Given the description of an element on the screen output the (x, y) to click on. 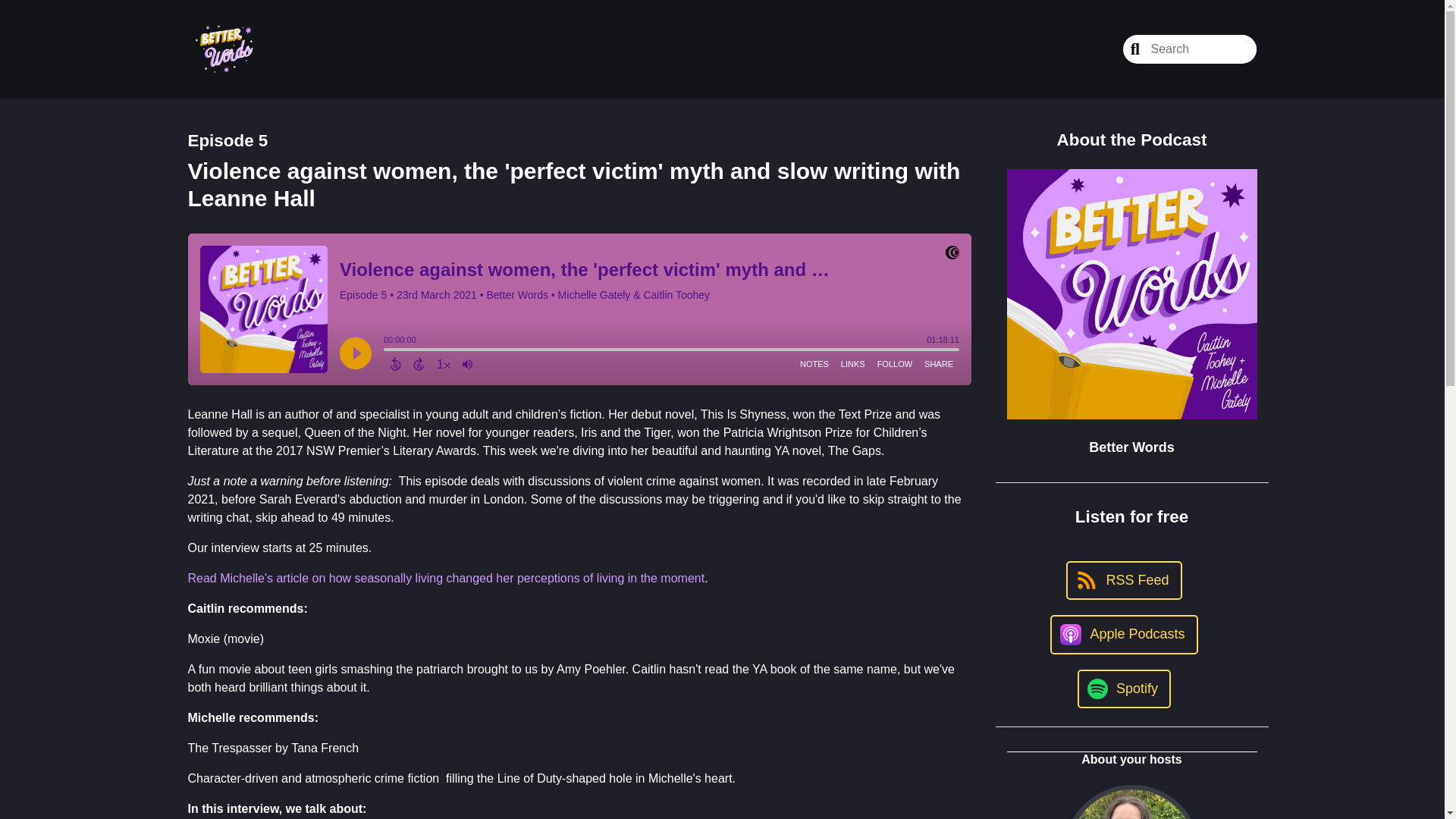
Spotify (1123, 688)
RSS Feed (1122, 580)
Apple Podcasts (1122, 634)
